Given the description of an element on the screen output the (x, y) to click on. 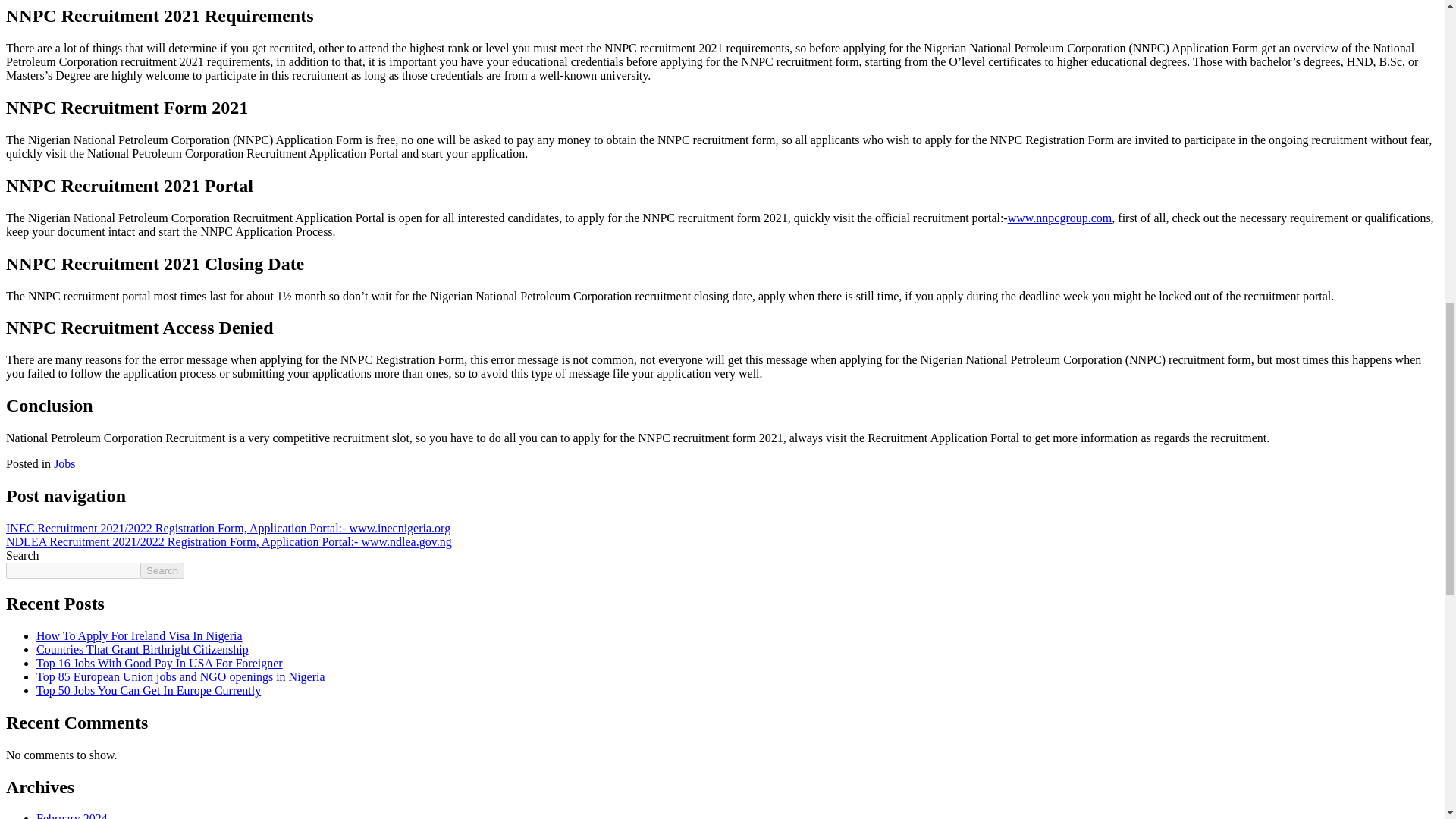
Top 16 Jobs With Good Pay In USA For Foreigner (159, 662)
Top 50 Jobs You Can Get In Europe Currently (148, 689)
Jobs (64, 463)
www.nnpcgroup.com (1059, 217)
Countries That Grant Birthright Citizenship (142, 649)
How To Apply For Ireland Visa In Nigeria (139, 635)
Search (161, 570)
February 2024 (71, 815)
Top 85 European Union jobs and NGO openings in Nigeria (180, 676)
